Given the description of an element on the screen output the (x, y) to click on. 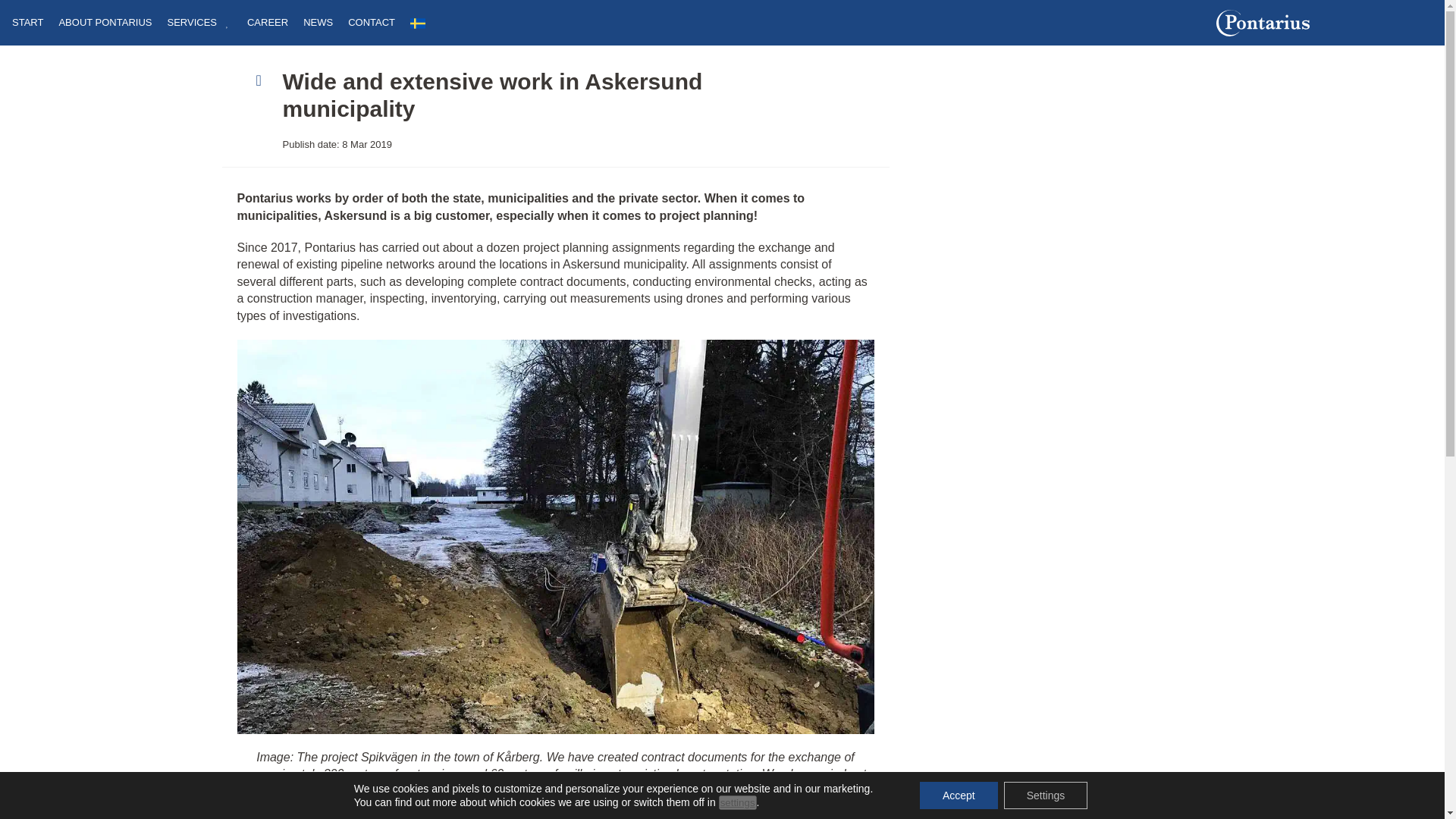
CAREER (267, 30)
settings (738, 801)
Settings (1045, 795)
SERVICES (199, 30)
NEWS (317, 30)
Pontarius (1323, 22)
START (27, 30)
CONTACT (370, 30)
ABOUT PONTARIUS (104, 30)
Accept (958, 795)
